Given the description of an element on the screen output the (x, y) to click on. 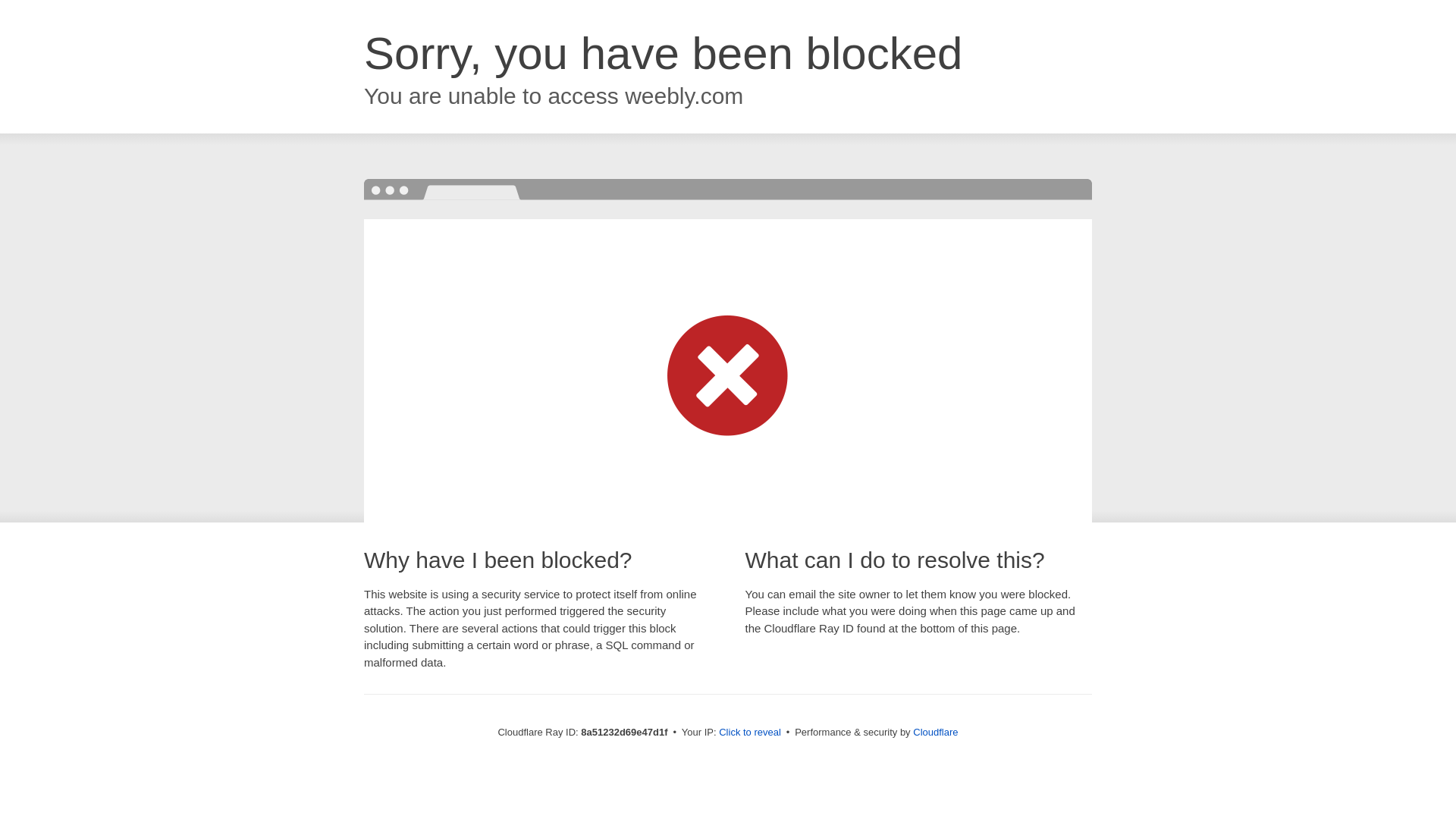
Cloudflare (935, 731)
Click to reveal (749, 732)
